Given the description of an element on the screen output the (x, y) to click on. 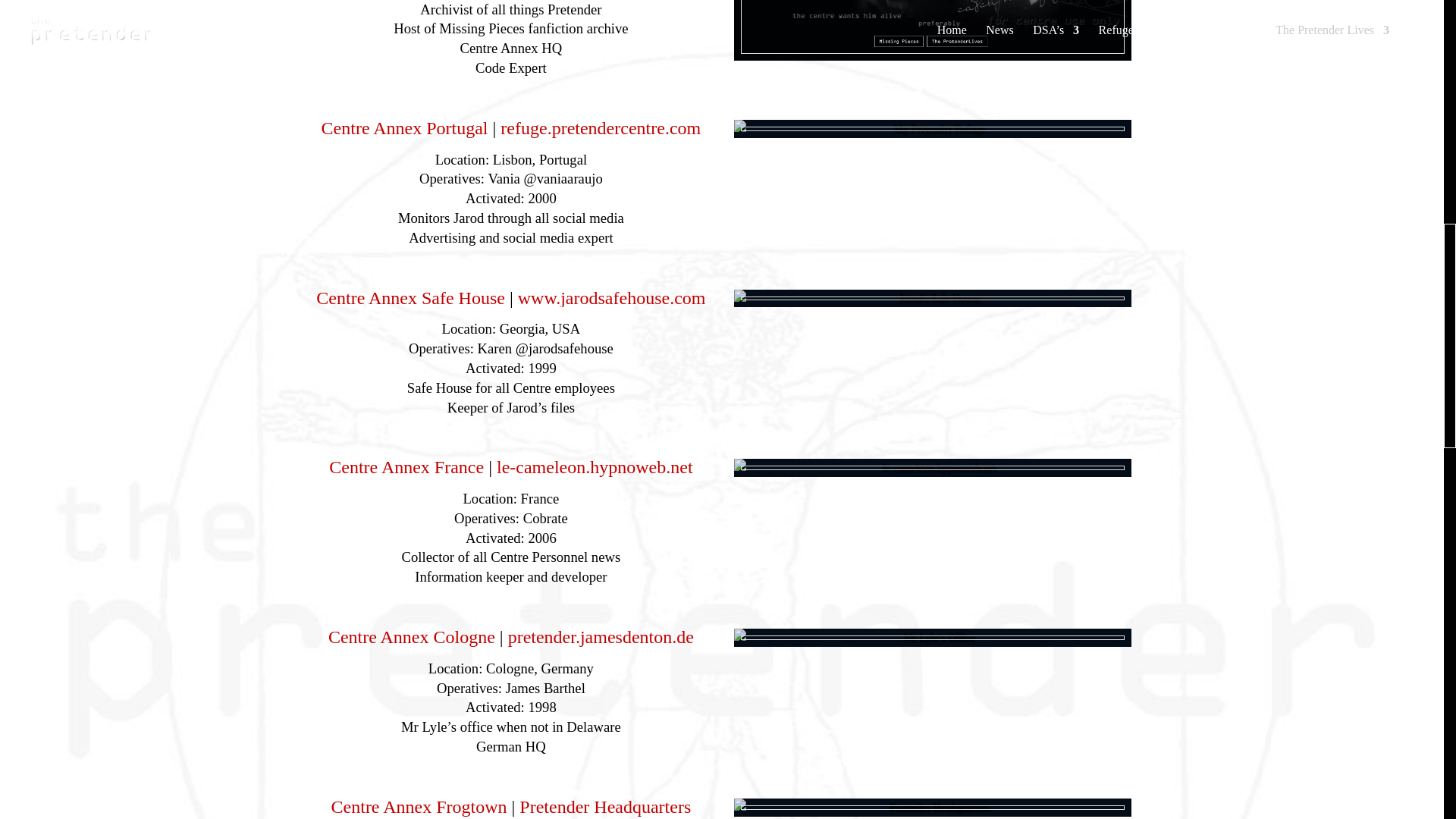
Centre Annex Frogtown (418, 807)
Down Under Annex (404, 128)
Centre Annex France (594, 467)
Centre Annex Portugal (404, 128)
Centre Annex France (406, 467)
Down Under Annex (600, 128)
pretender.jamesdenton.de (601, 637)
Centre Annex Safe House (410, 298)
Pretender Headquarters (604, 807)
refuge.pretendercentre.com (600, 128)
